Given the description of an element on the screen output the (x, y) to click on. 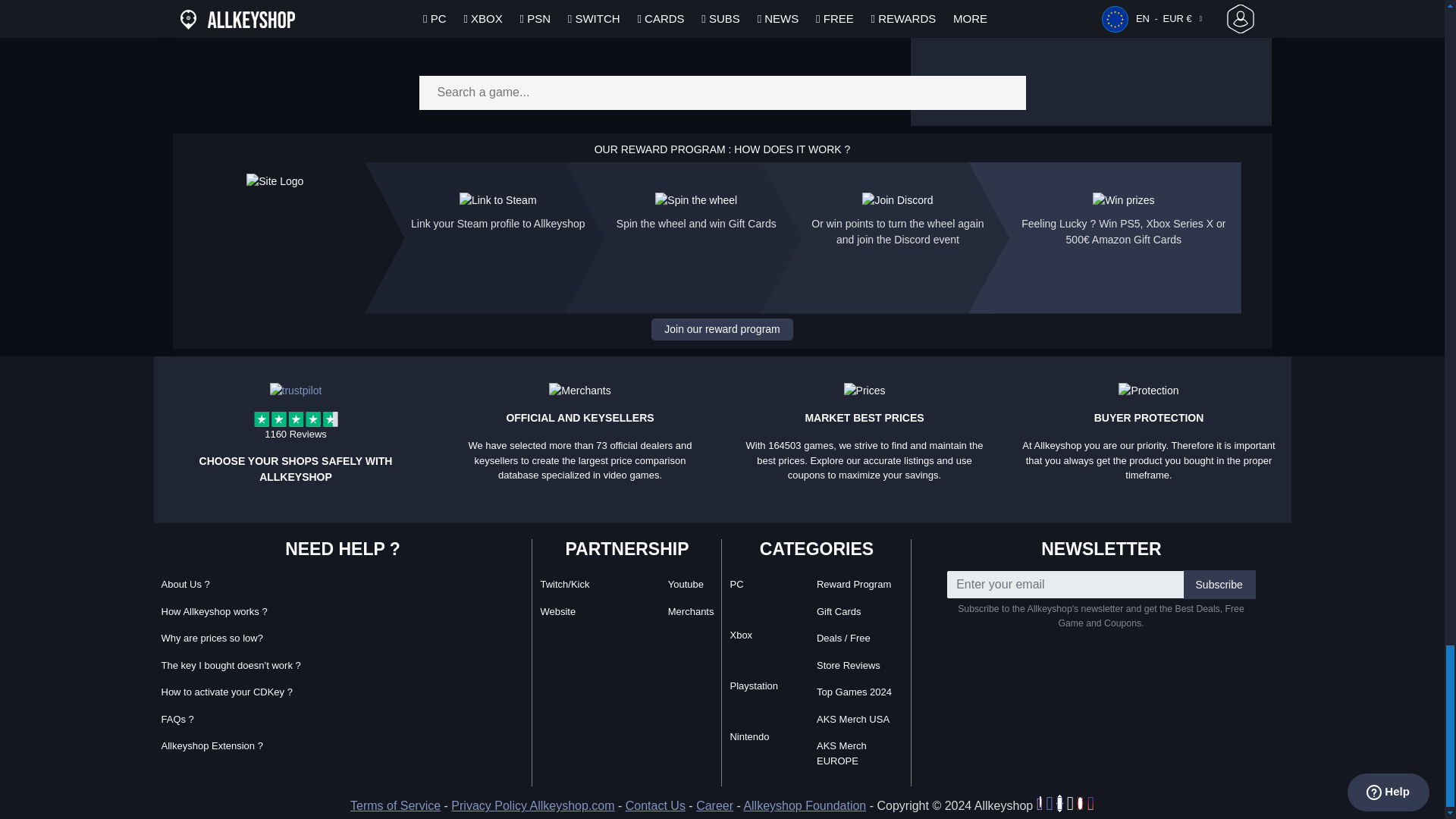
Subscribe (1218, 584)
